Given the description of an element on the screen output the (x, y) to click on. 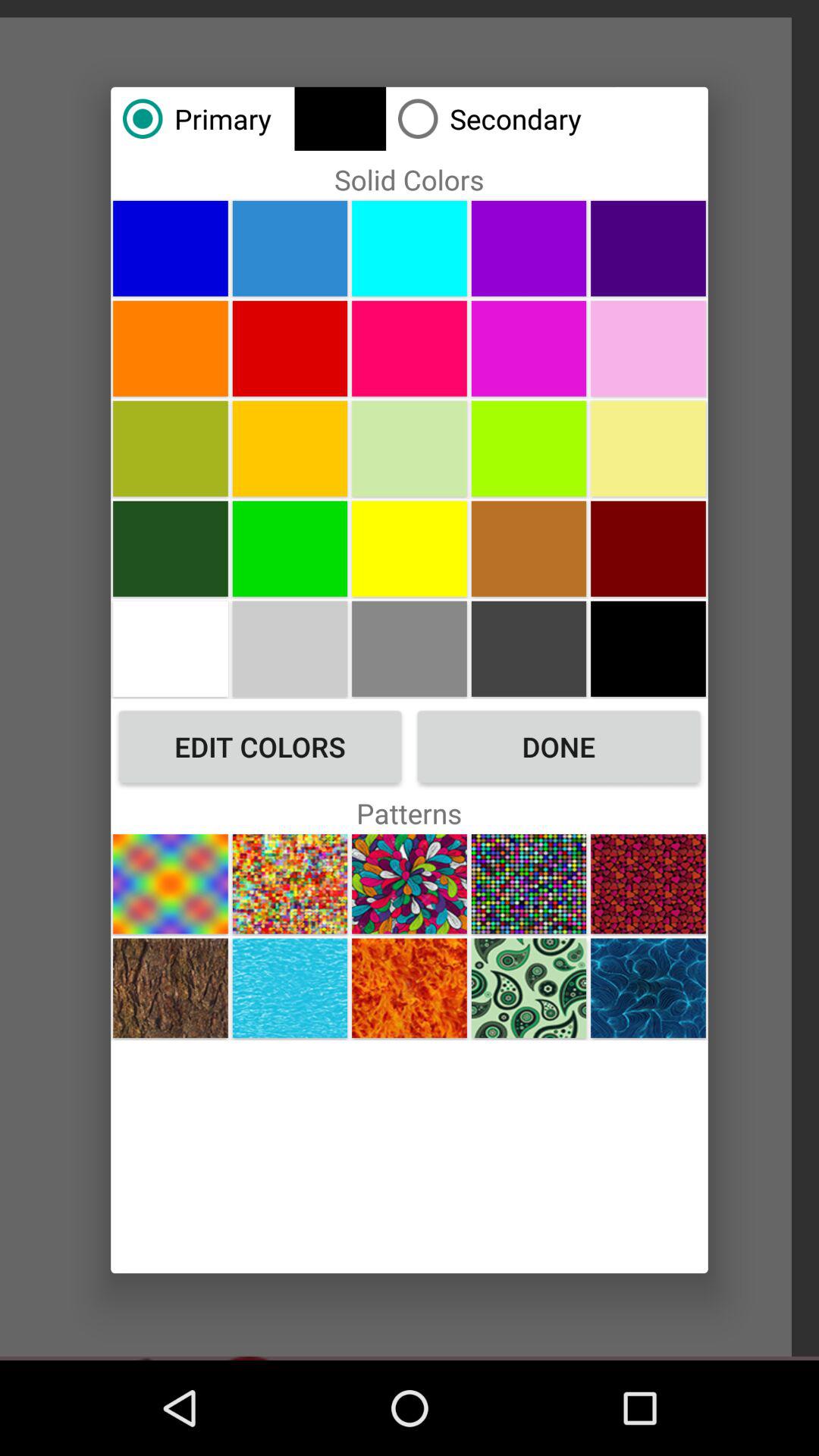
press button below edit colors button (289, 883)
